Given the description of an element on the screen output the (x, y) to click on. 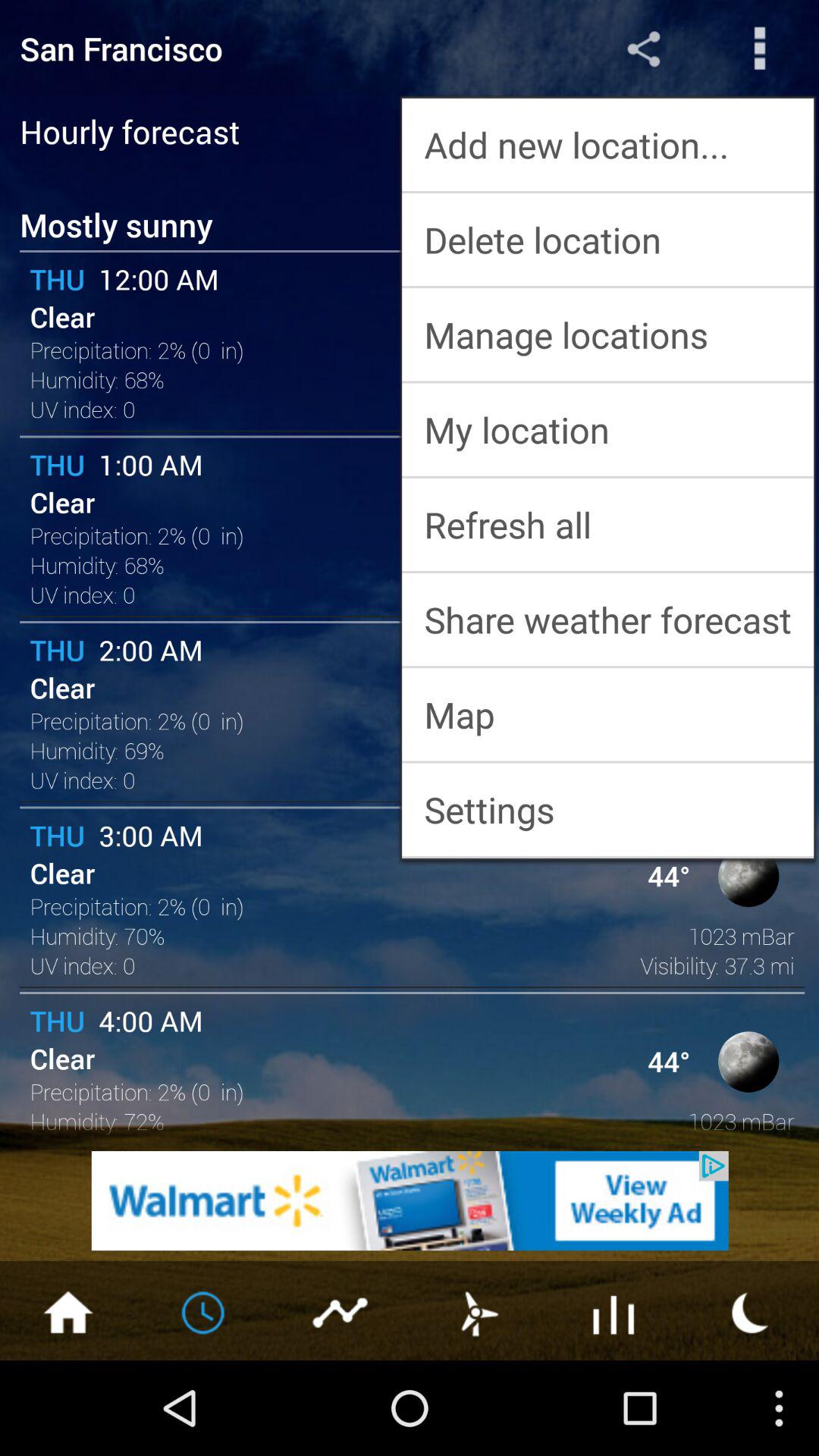
scroll until share weather forecast app (607, 619)
